Given the description of an element on the screen output the (x, y) to click on. 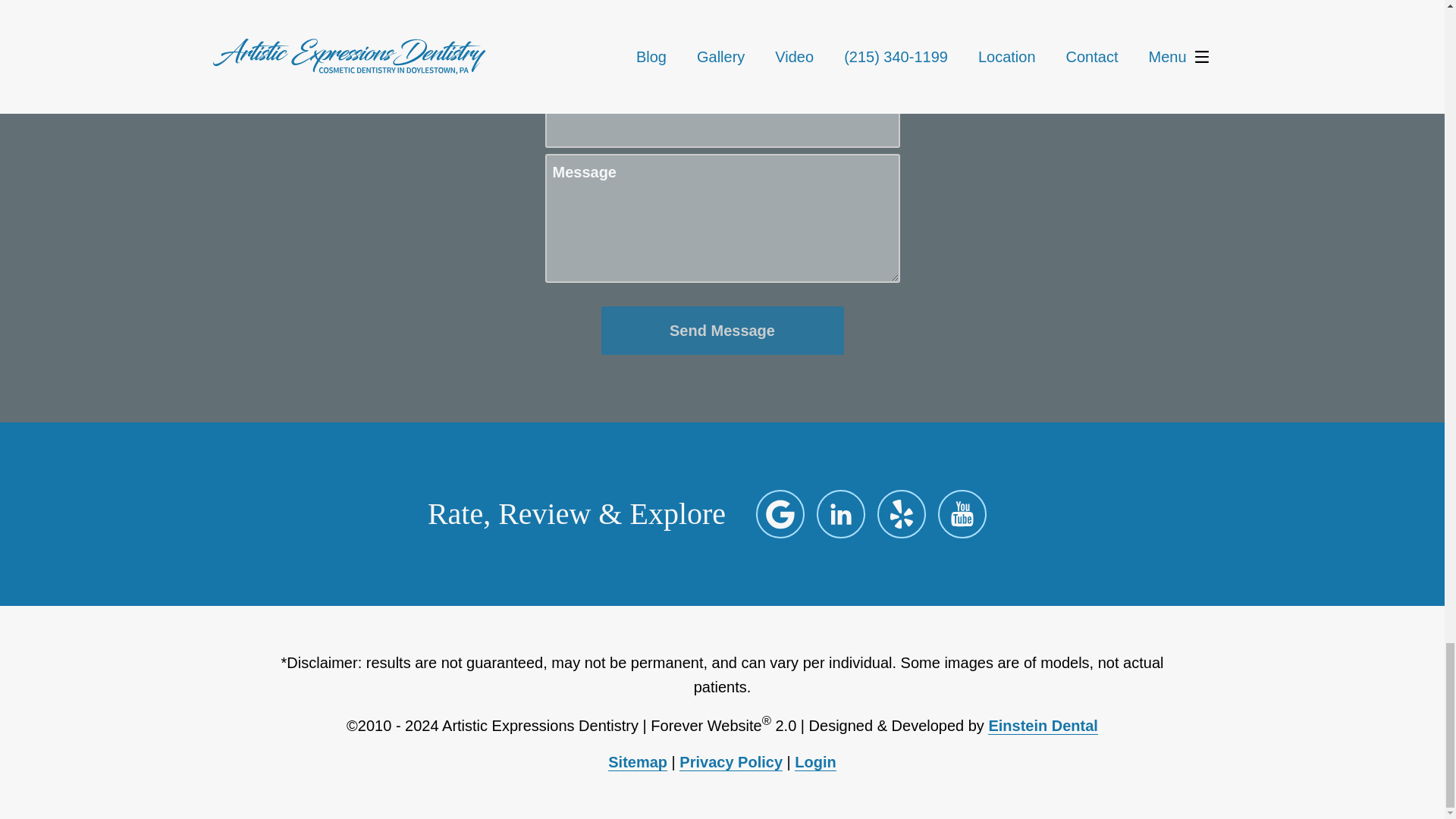
Google (780, 513)
YouTube (962, 513)
Send Message (721, 330)
LinkedIn (840, 513)
Yelp (901, 513)
